Given the description of an element on the screen output the (x, y) to click on. 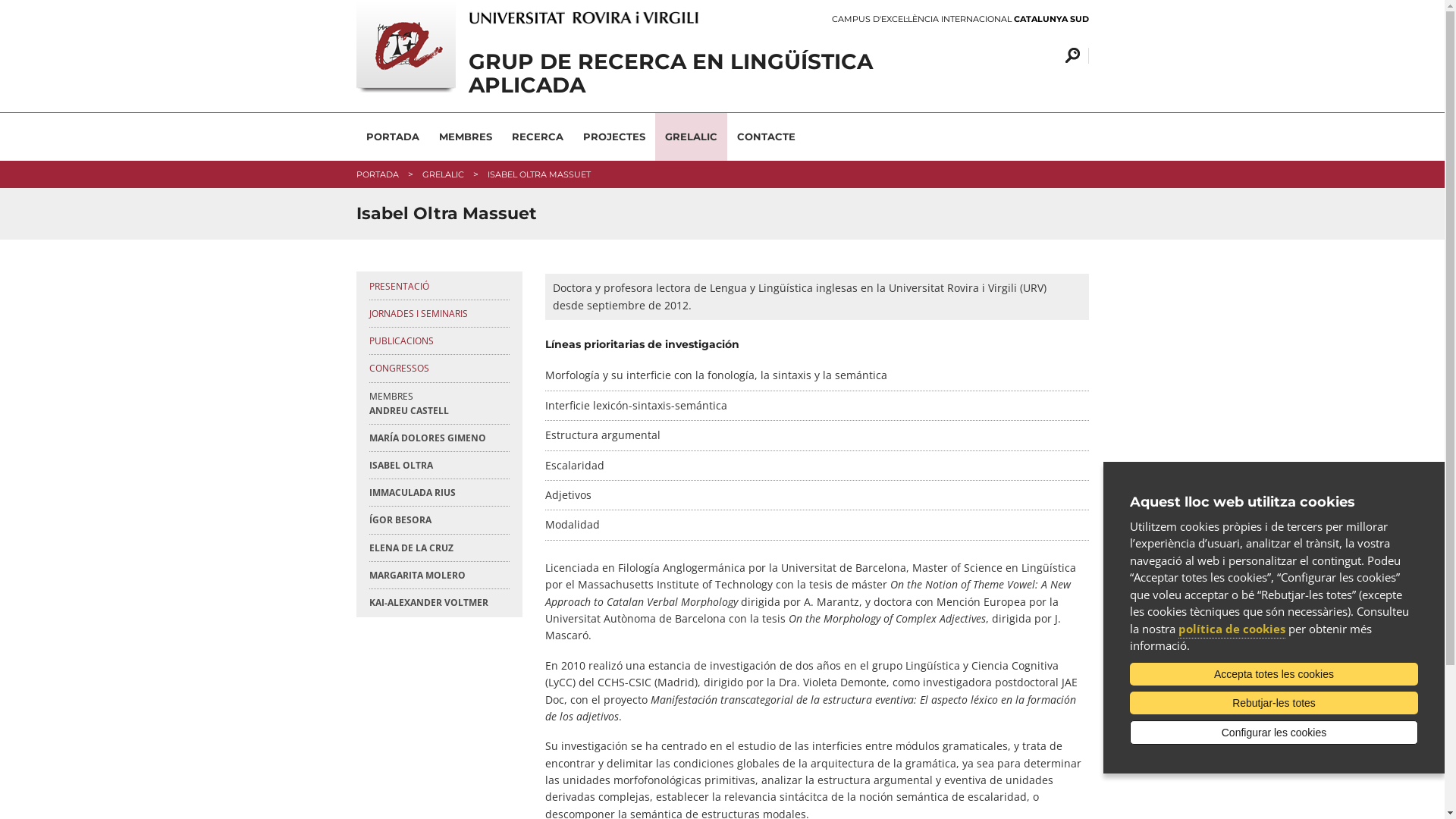
MARGARITA MOLERO Element type: text (438, 574)
GRELALIC Element type: text (442, 174)
PORTADA Element type: text (377, 174)
GRELALIC Element type: text (691, 136)
ISABEL OLTRA Element type: text (438, 465)
MEMBRES Element type: text (465, 136)
Cercar Element type: text (1069, 55)
CONTACTE Element type: text (765, 136)
KAI-ALEXANDER VOLTMER Element type: text (438, 602)
ELENA DE LA CRUZ Element type: text (438, 547)
Accepta totes les cookies Element type: text (1273, 673)
PROJECTES Element type: text (614, 136)
IMMACULADA RIUS Element type: text (438, 492)
Rebutjar-les totes Element type: text (1273, 702)
JORNADES I SEMINARIS Element type: text (438, 313)
PUBLICACIONS Element type: text (438, 340)
PORTADA Element type: text (392, 136)
RECERCA Element type: text (537, 136)
Configurar les cookies Element type: text (1273, 732)
ANDREU CASTELL Element type: text (438, 410)
CONGRESSOS Element type: text (438, 367)
